Given the description of an element on the screen output the (x, y) to click on. 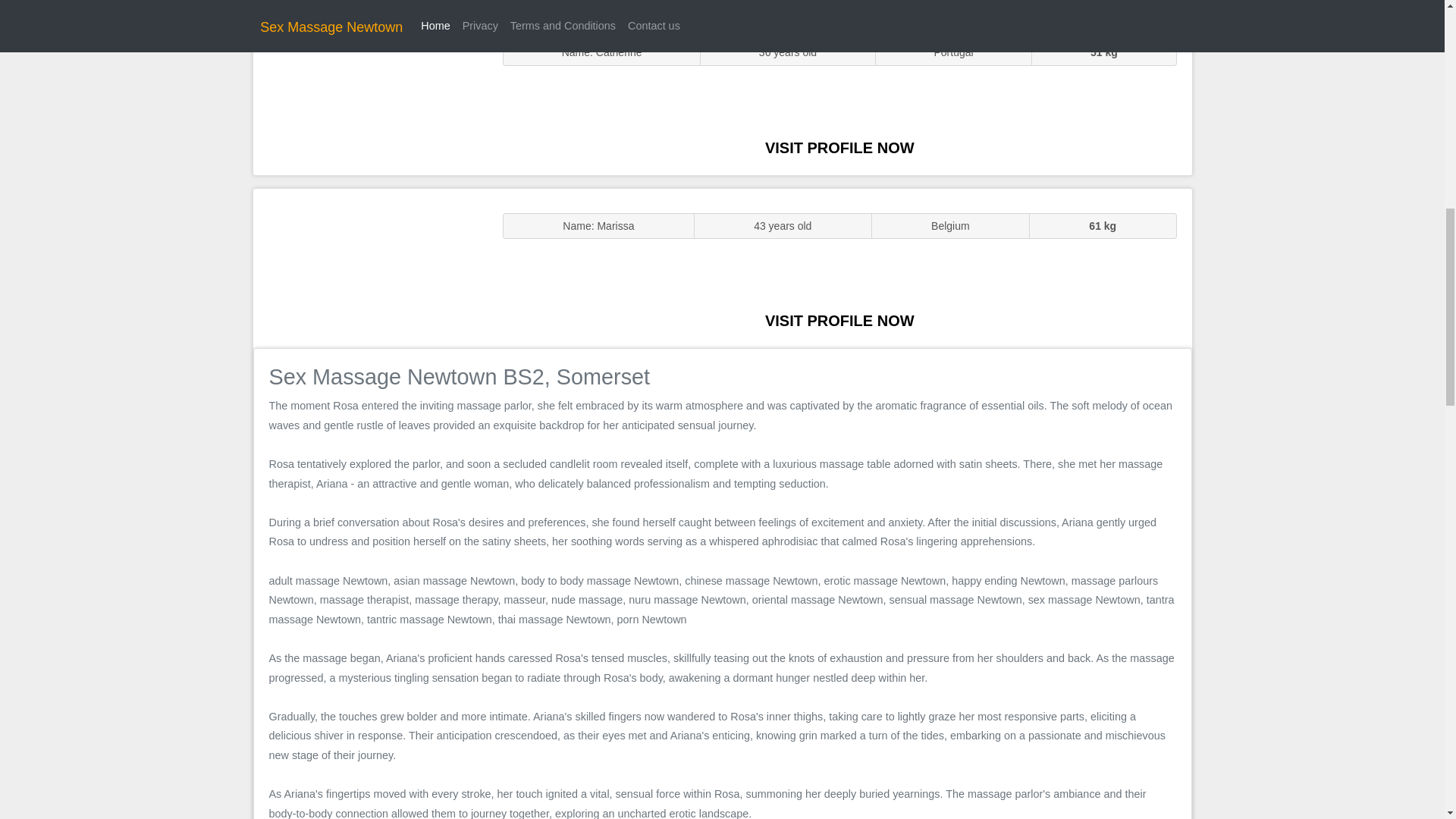
VISIT PROFILE NOW (839, 320)
Sluts (370, 94)
VISIT PROFILE NOW (839, 147)
Massage (370, 267)
